Given the description of an element on the screen output the (x, y) to click on. 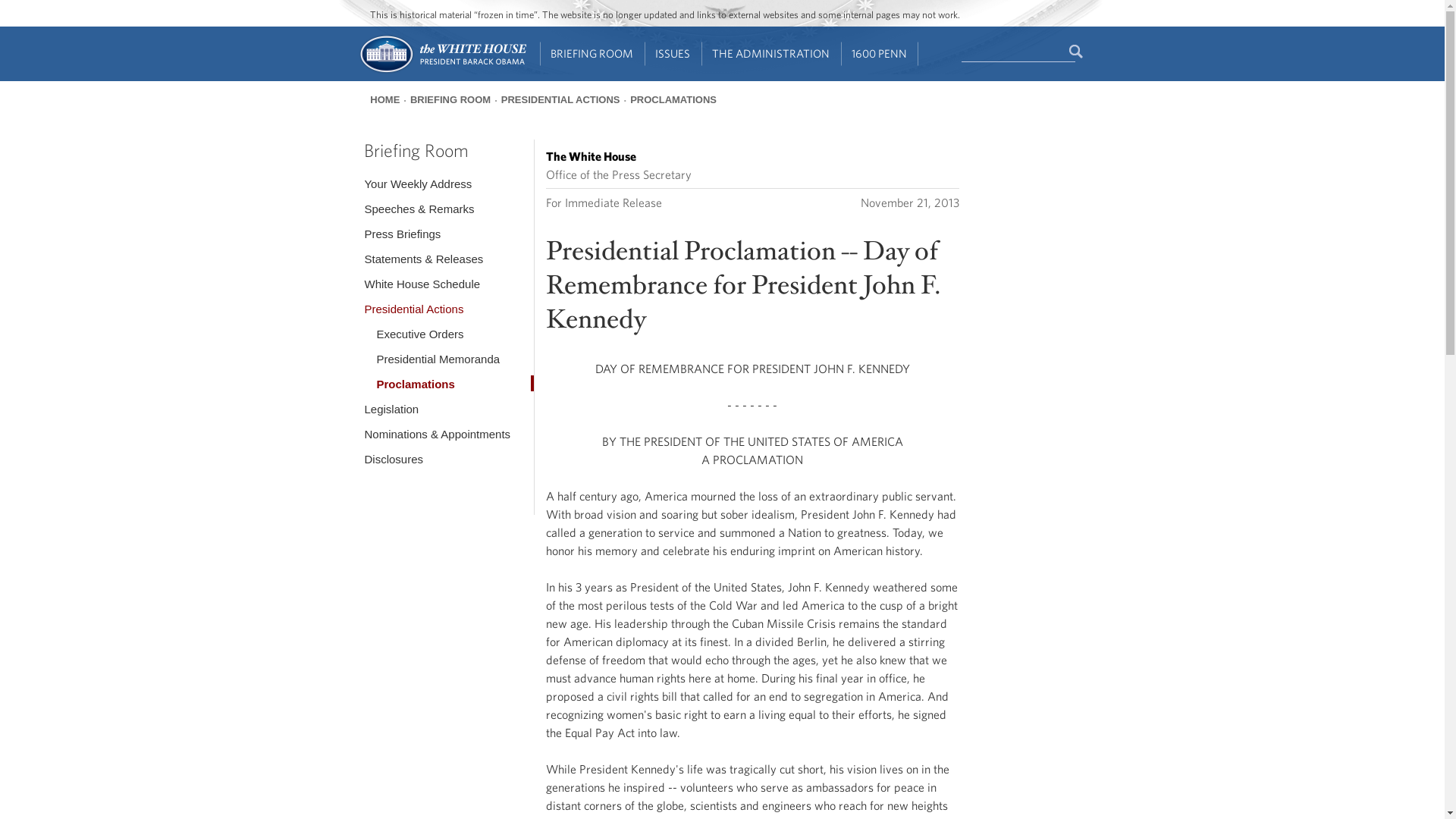
BRIEFING ROOM (592, 53)
Enter the terms you wish to search for. (1017, 52)
ISSUES (673, 53)
Search (1076, 51)
Home (441, 70)
